Given the description of an element on the screen output the (x, y) to click on. 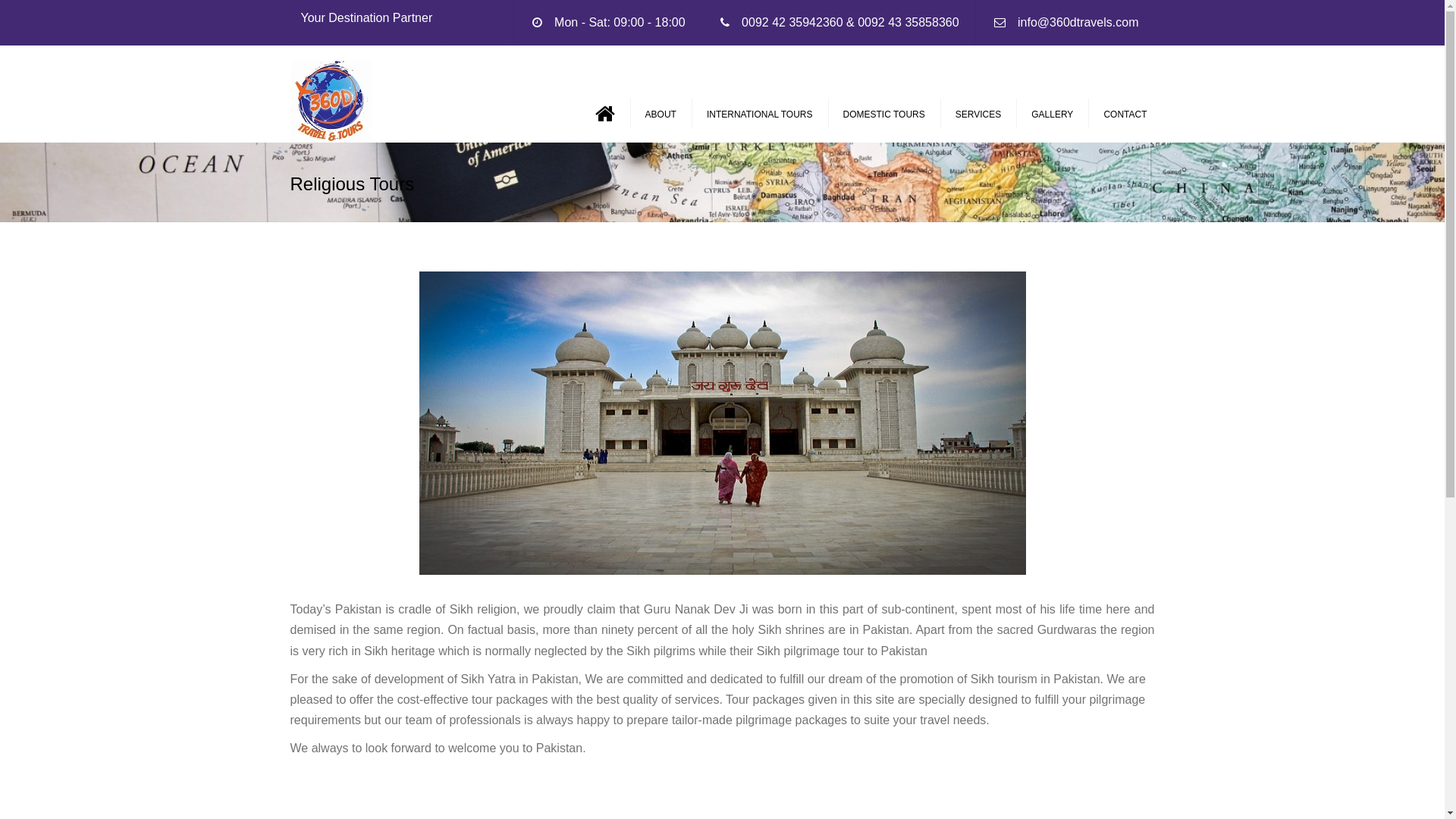
INTERNATIONAL TOURS Element type: text (759, 114)
ABOUT Element type: text (660, 114)
CONTACT Element type: text (1124, 114)
info@360dtravels.com Element type: text (1077, 21)
GALLERY Element type: text (1051, 114)
DOMESTIC TOURS Element type: text (883, 114)
SERVICES Element type: text (977, 114)
